Given the description of an element on the screen output the (x, y) to click on. 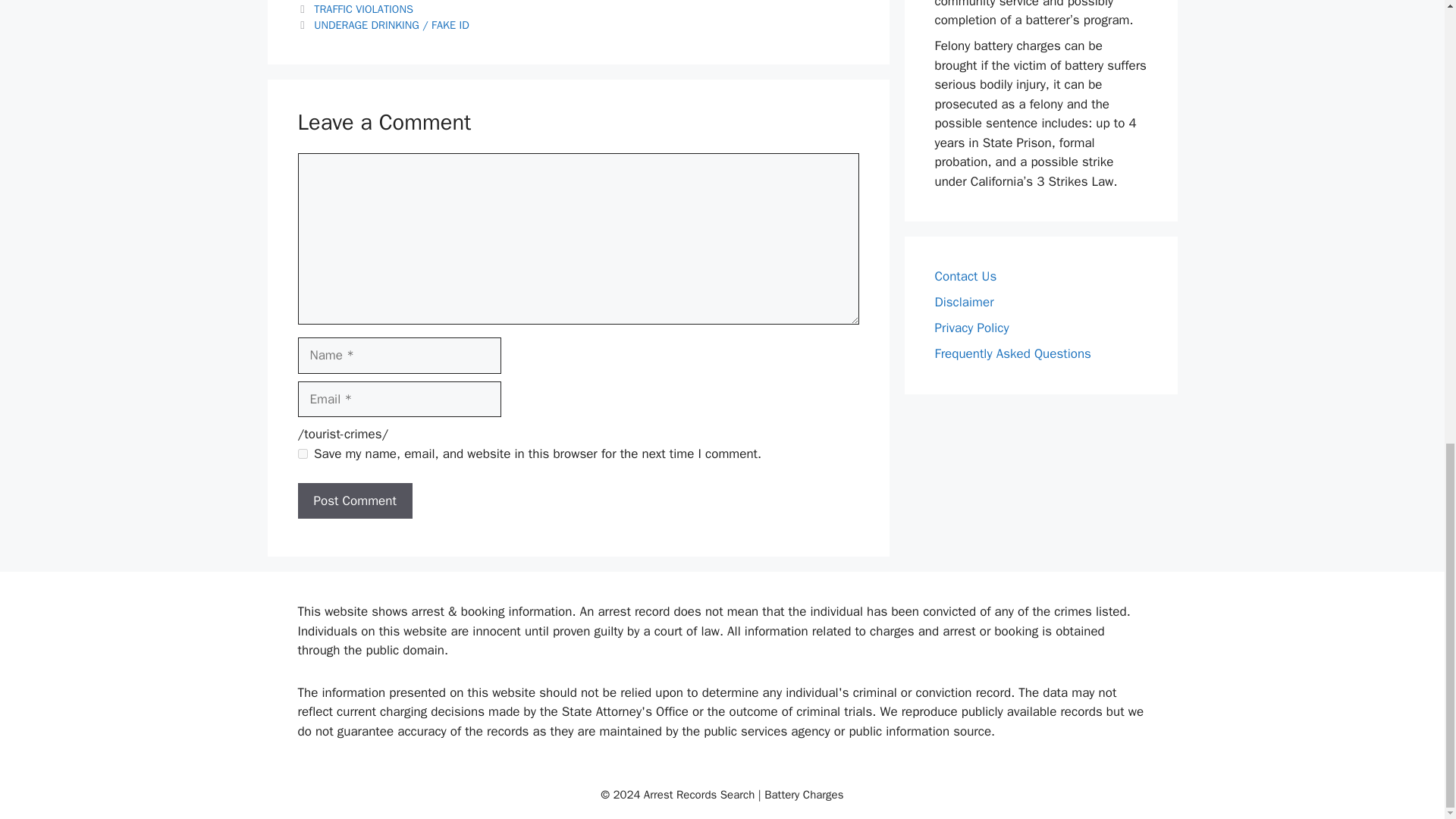
Post Comment (354, 501)
yes (302, 453)
TRAFFIC VIOLATIONS (363, 8)
Frequently Asked Questions (1012, 353)
Contact Us (964, 276)
Disclaimer (963, 302)
Post Comment (354, 501)
Next (382, 24)
Privacy Policy (971, 327)
Previous (354, 8)
